Given the description of an element on the screen output the (x, y) to click on. 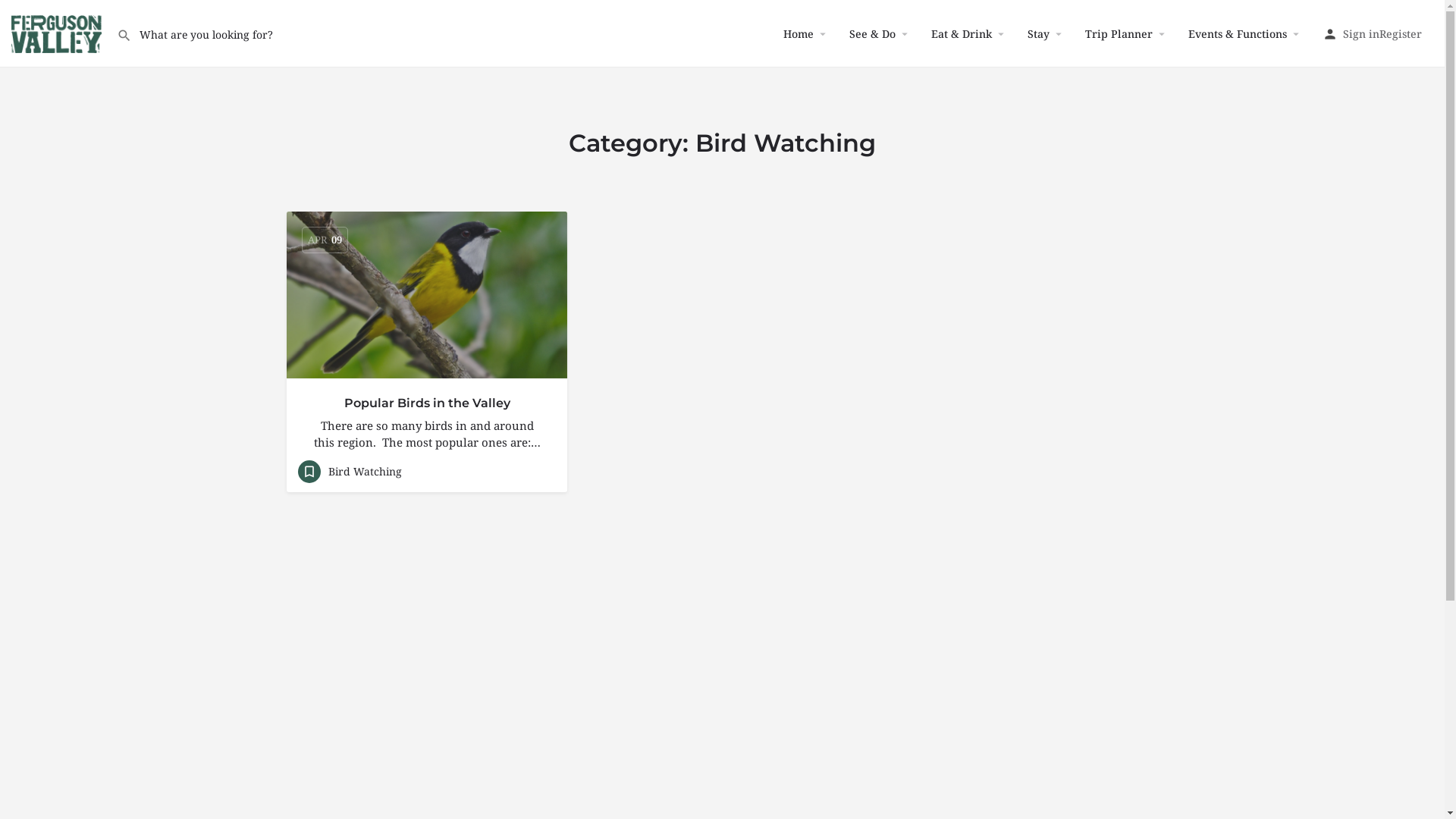
Trip Planner Element type: text (1118, 32)
Popular Birds in the Valley Element type: text (426, 403)
Register Element type: text (1400, 33)
Eat & Drink Element type: text (961, 32)
Bird Watching Element type: text (349, 470)
See & Do Element type: text (872, 32)
Stay Element type: text (1038, 32)
Events & Functions Element type: text (1237, 32)
Home Element type: text (798, 32)
Sign in Element type: text (1361, 33)
